Given the description of an element on the screen output the (x, y) to click on. 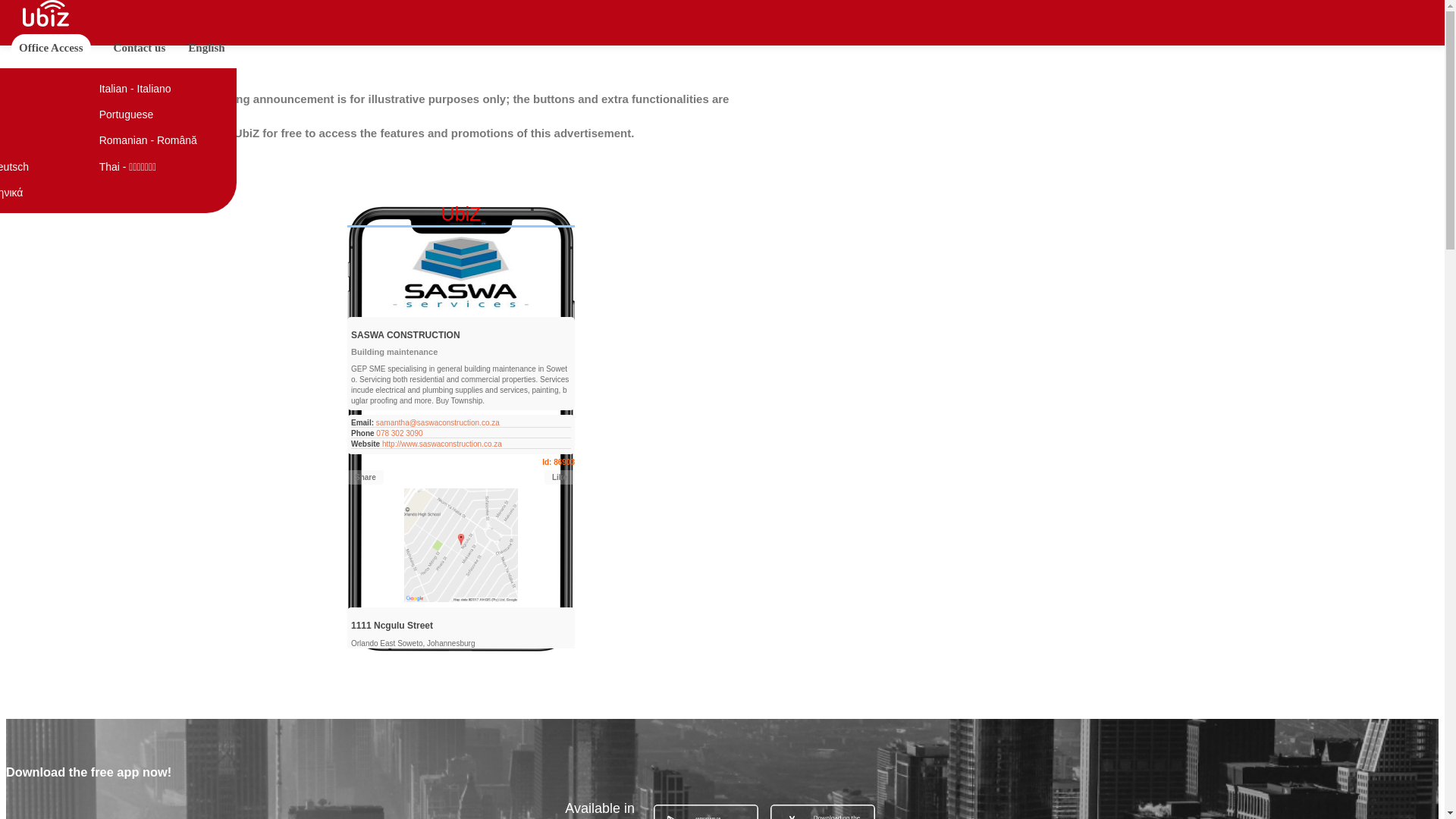
Italian - Italiano (162, 88)
Contact us (139, 47)
How to get (548, 674)
Like (559, 477)
English (205, 47)
Portuguese (162, 114)
Portuguese (162, 114)
Office Access (50, 47)
078 302 3090 (398, 433)
German - Deutsch (40, 166)
English (40, 88)
Italian - Italiano (162, 88)
German - Deutsch (40, 166)
Share (365, 477)
